Given the description of an element on the screen output the (x, y) to click on. 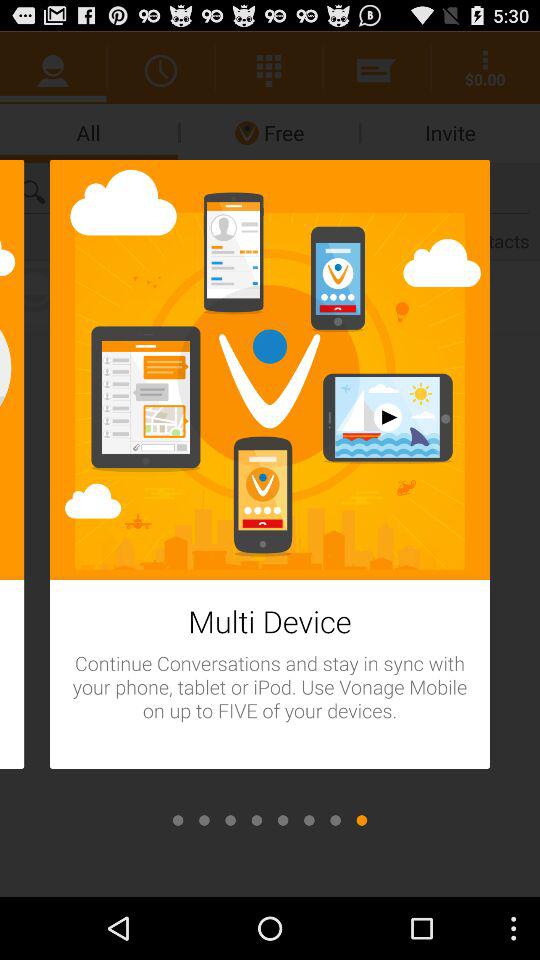
choose icon at the bottom right corner (361, 820)
